Given the description of an element on the screen output the (x, y) to click on. 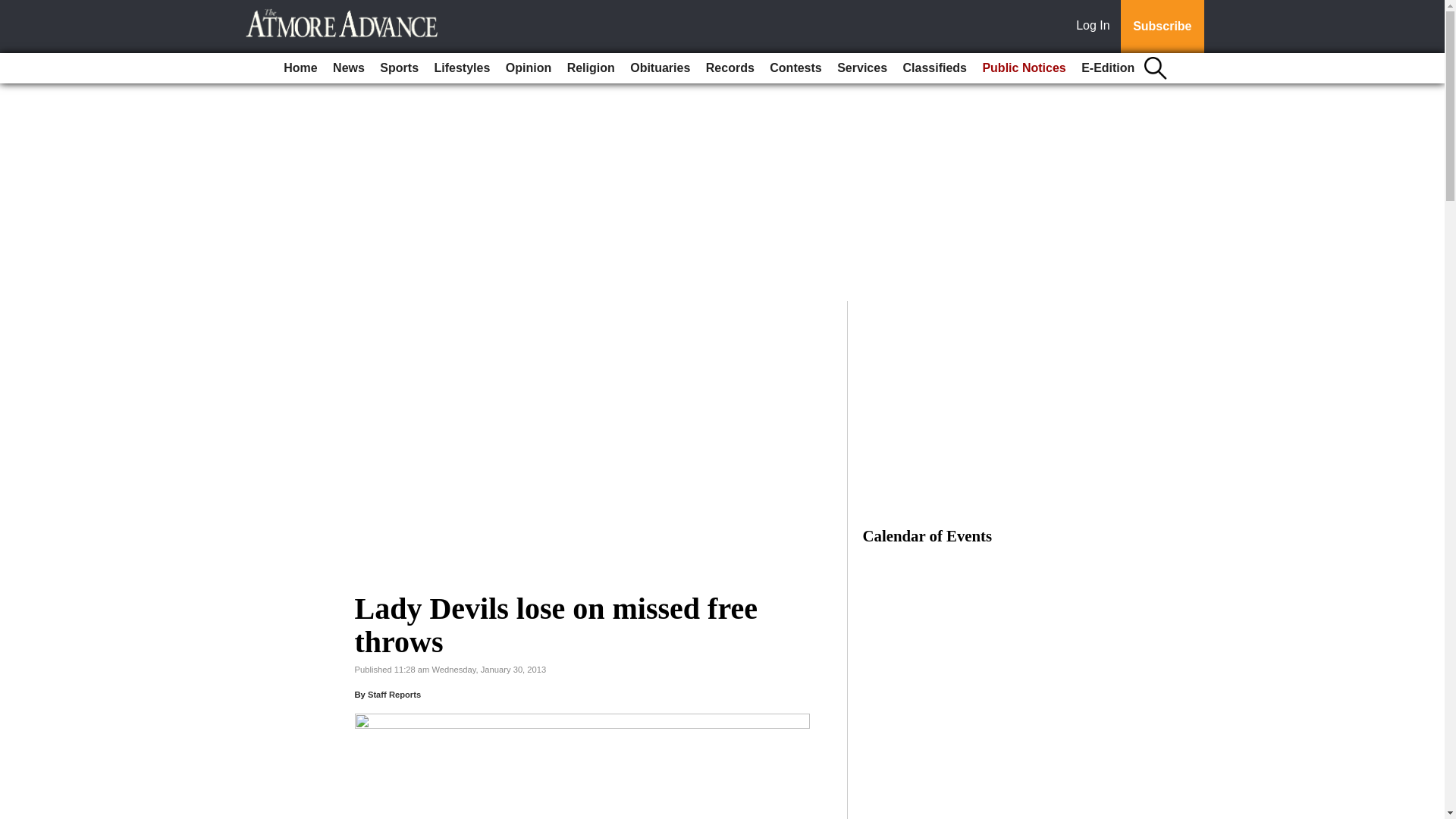
Services (862, 68)
Subscribe (1162, 26)
Classifieds (934, 68)
Contests (794, 68)
Sports (399, 68)
Lifestyles (462, 68)
Religion (590, 68)
Obituaries (659, 68)
E-Edition (1107, 68)
Go (13, 9)
Opinion (528, 68)
Public Notices (1023, 68)
Log In (1095, 26)
News (348, 68)
Staff Reports (394, 694)
